Given the description of an element on the screen output the (x, y) to click on. 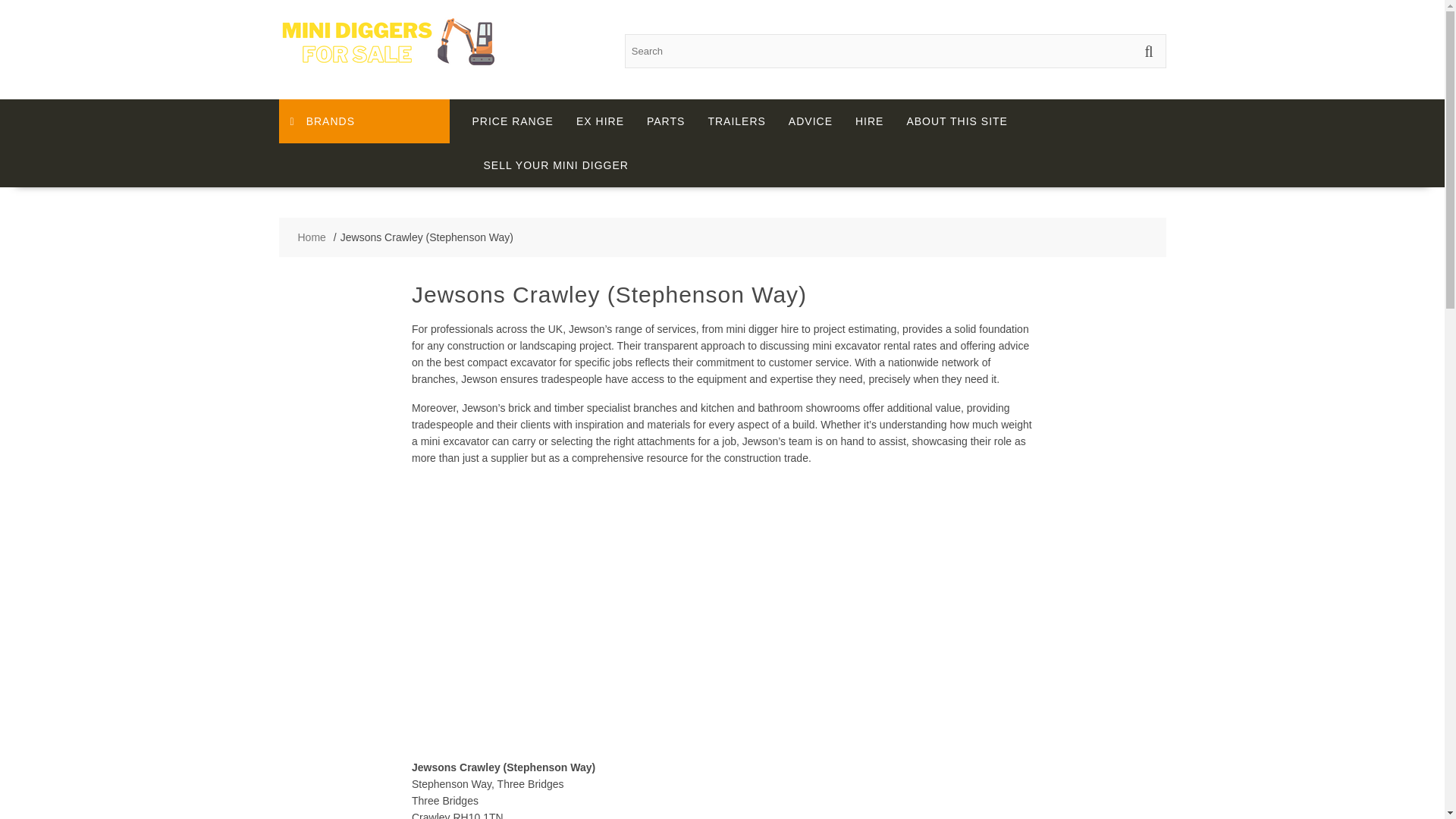
Mini Digger Trailers (735, 121)
EX HIRE (599, 121)
Mini Digger Advice (810, 121)
PARTS (664, 121)
Mini Digger Parts, Spares and Accessories (664, 121)
BRANDS (364, 121)
ADVICE (810, 121)
TRAILERS (735, 121)
Mini Digger Hire (869, 121)
PRICE RANGE (512, 121)
